Given the description of an element on the screen output the (x, y) to click on. 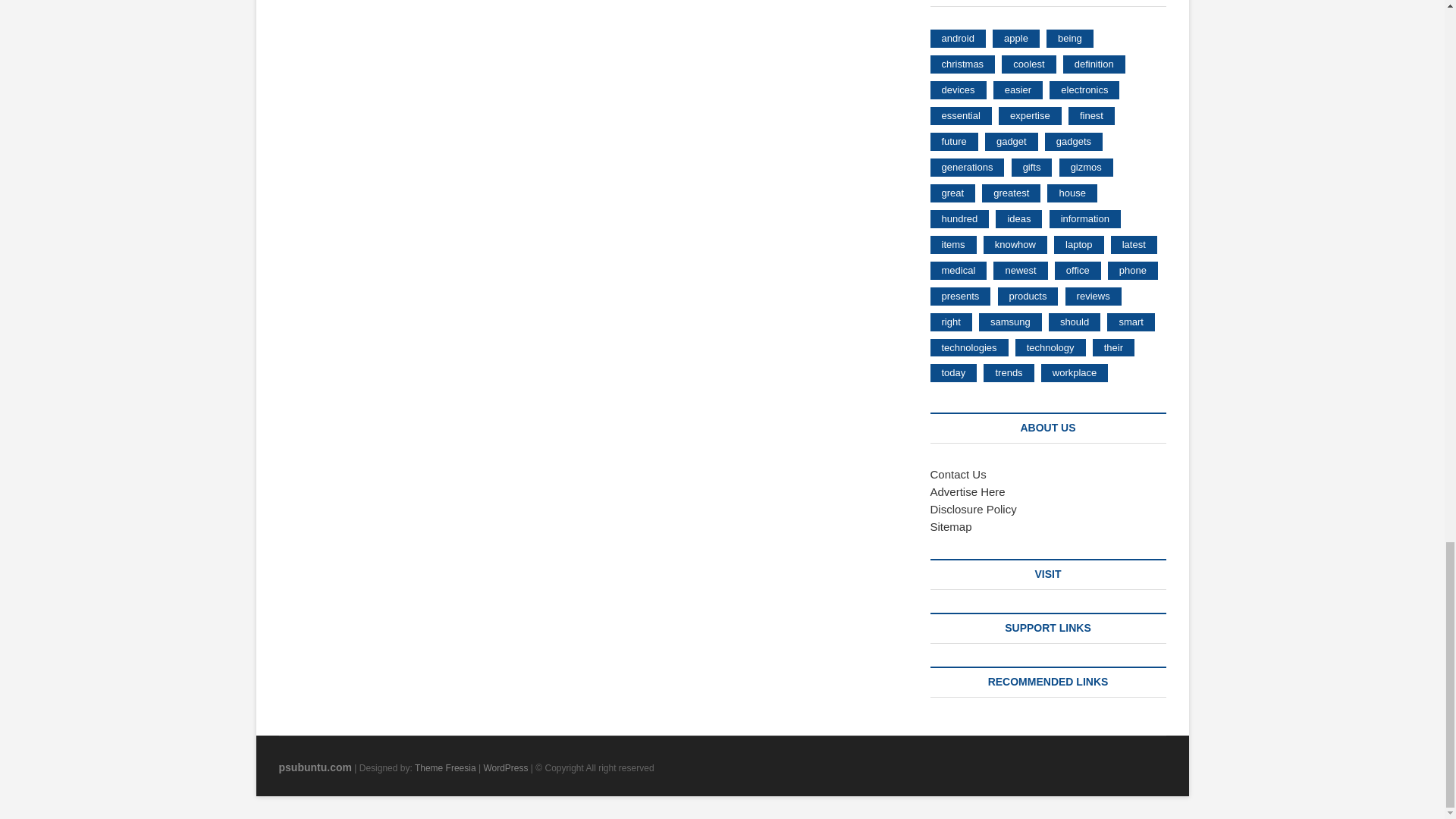
psubuntu.com (315, 767)
WordPress (505, 767)
Theme Freesia (445, 767)
